Given the description of an element on the screen output the (x, y) to click on. 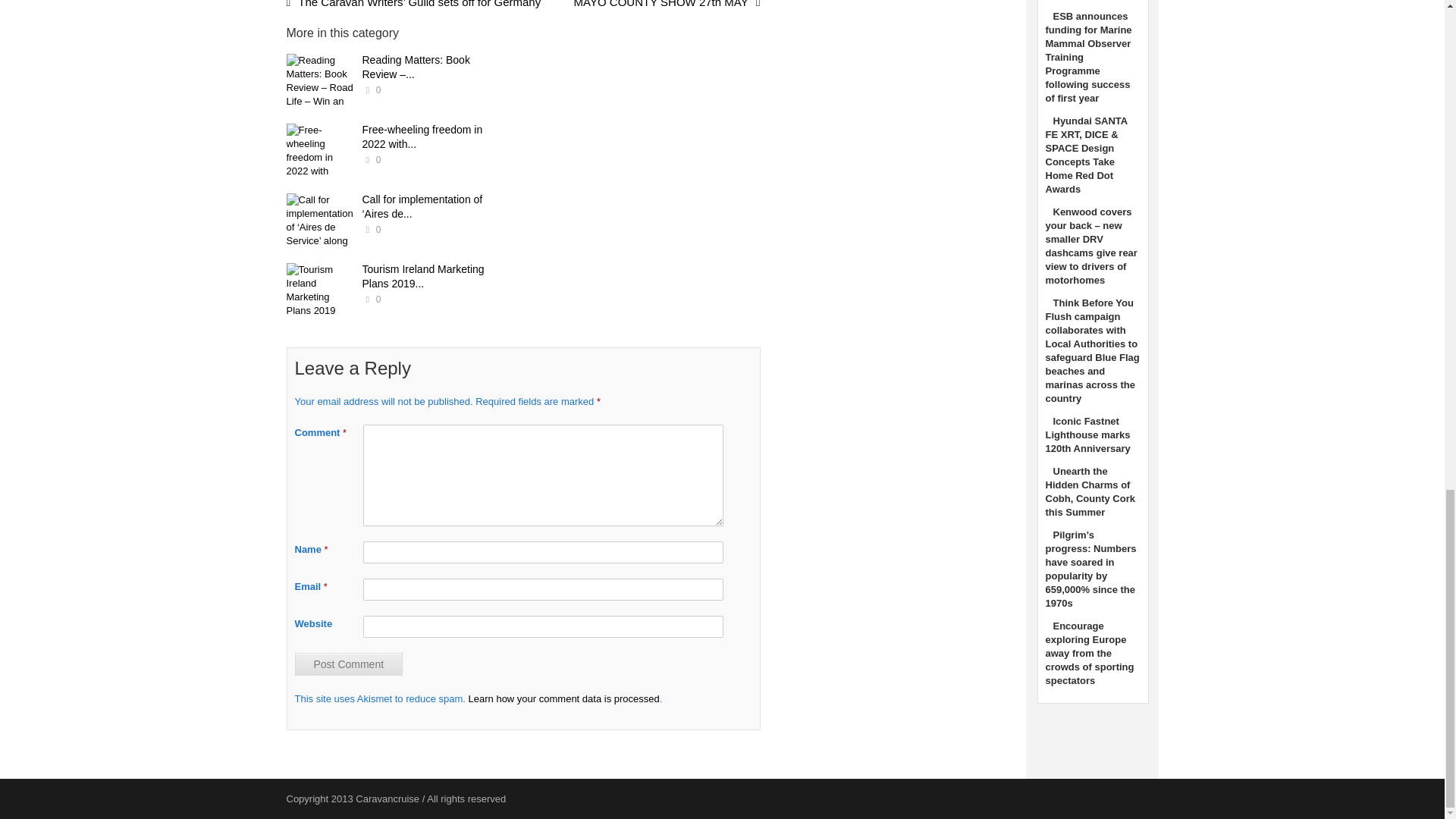
Post Comment (348, 662)
Tourism Ireland Marketing Plans 2019 Launch (320, 290)
Free-wheeling freedom in 2022 with Camplify (320, 150)
